Given the description of an element on the screen output the (x, y) to click on. 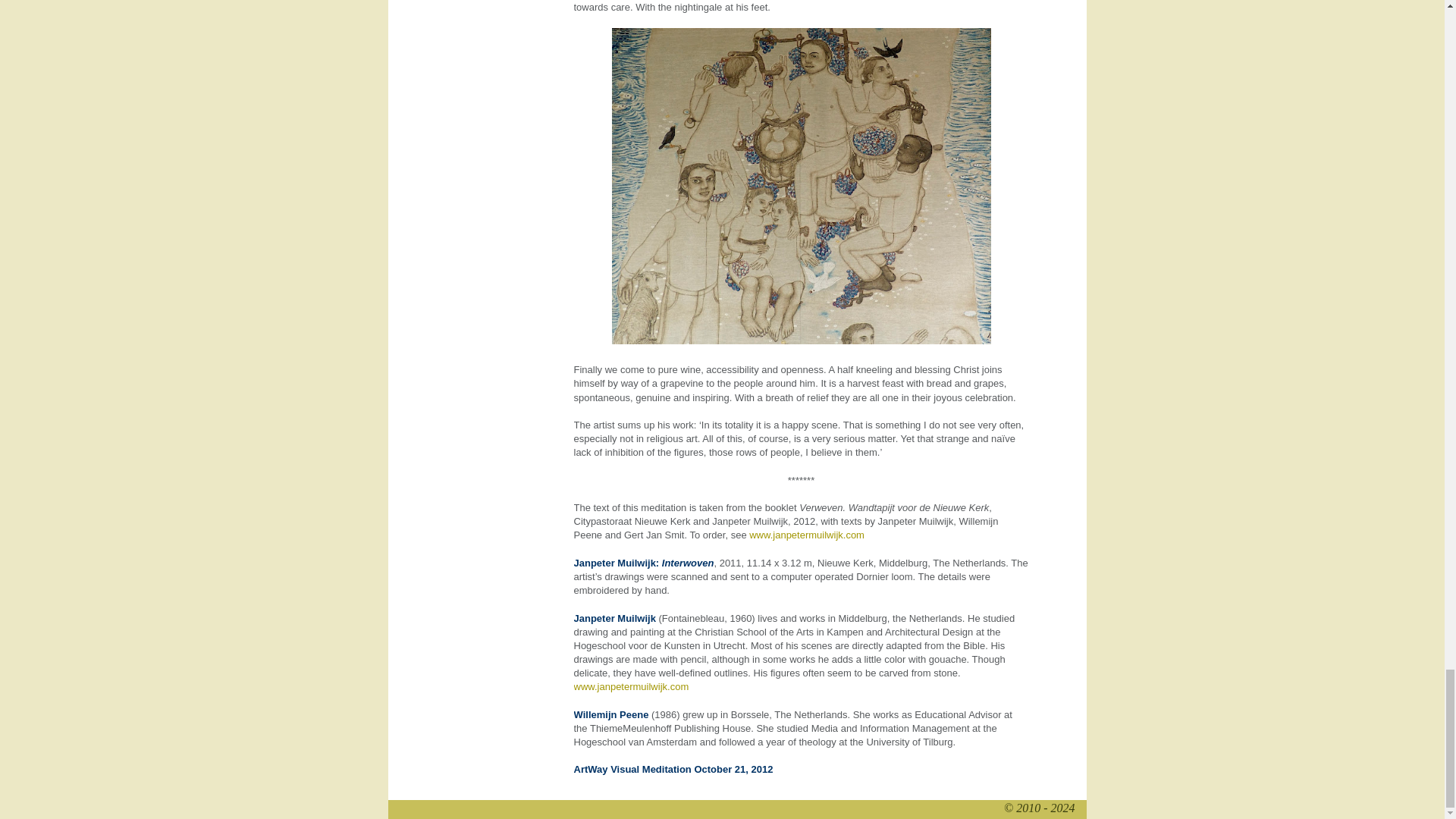
Click on image to view the original size (800, 188)
